Given the description of an element on the screen output the (x, y) to click on. 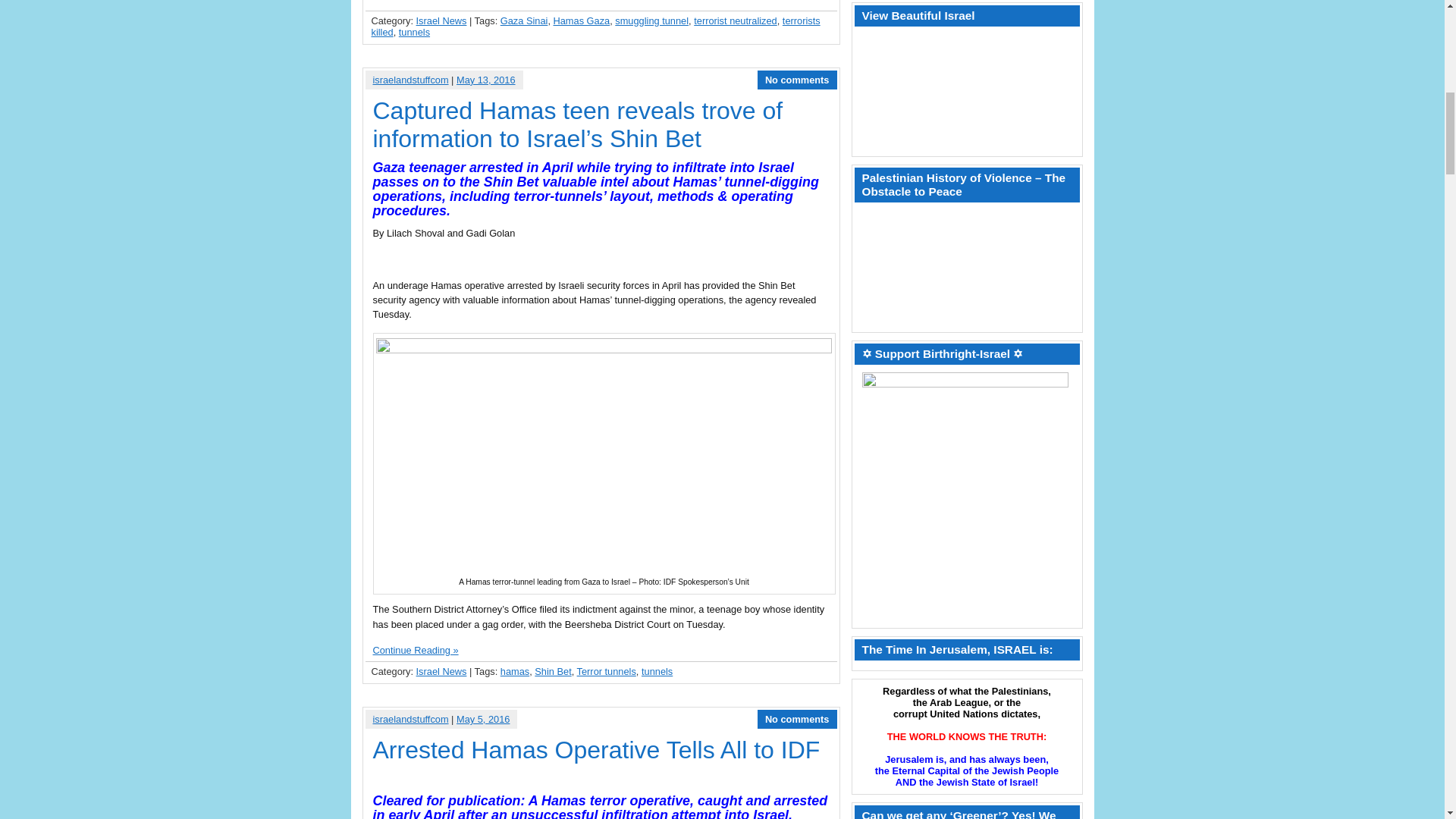
Posts by israelandstuffcom (410, 79)
Israel News (441, 20)
Posts by israelandstuffcom (410, 718)
